Given the description of an element on the screen output the (x, y) to click on. 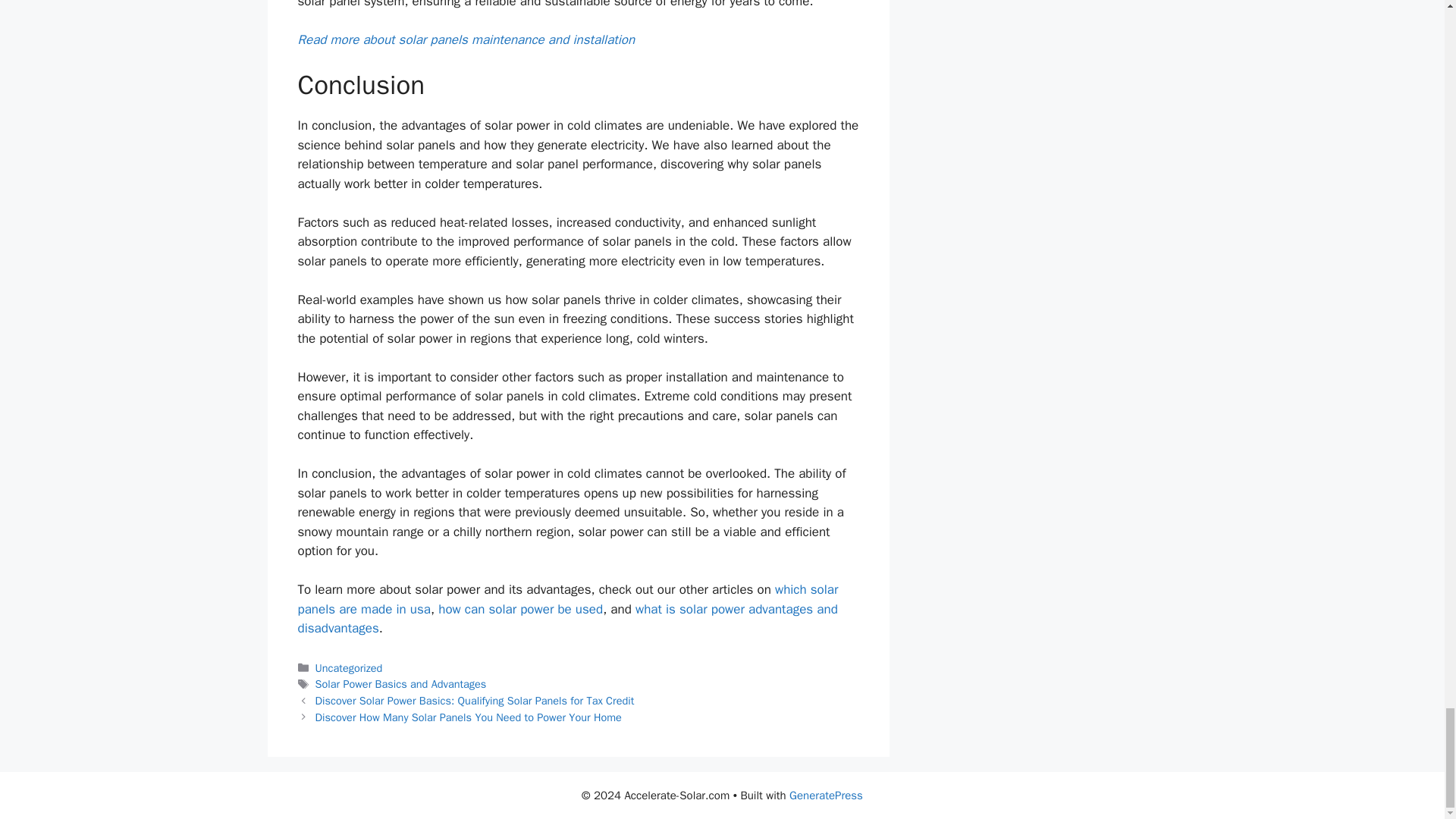
Uncategorized (348, 667)
Discover How Many Solar Panels You Need to Power Your Home (468, 716)
Solar Power Basics and Advantages (400, 684)
Read more about solar panels maintenance and installation (465, 39)
what is solar power advantages and disadvantages (567, 619)
GeneratePress (826, 794)
which solar panels are made in usa (567, 599)
how can solar power be used (520, 609)
